Given the description of an element on the screen output the (x, y) to click on. 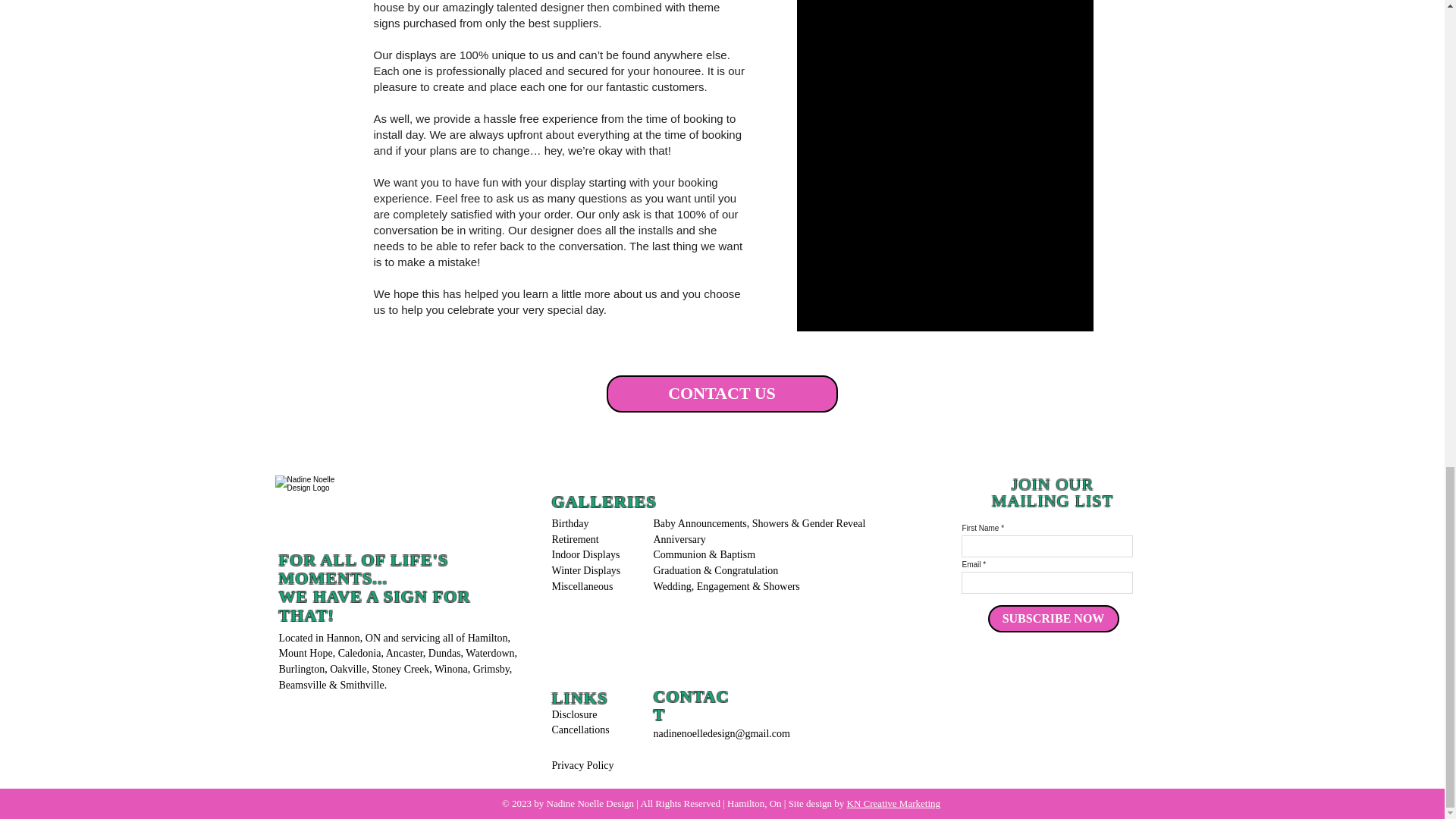
Retirement  (576, 539)
CONTACT US (722, 393)
Winter Displays  (587, 570)
Disclosure (573, 714)
Indoor Displays  (587, 554)
KN Creative Marketing (893, 803)
Miscellaneous (581, 586)
Anniversary  (681, 539)
Privacy Policy (582, 765)
SUBSCRIBE NOW (1052, 618)
Birthday  (571, 523)
